Given the description of an element on the screen output the (x, y) to click on. 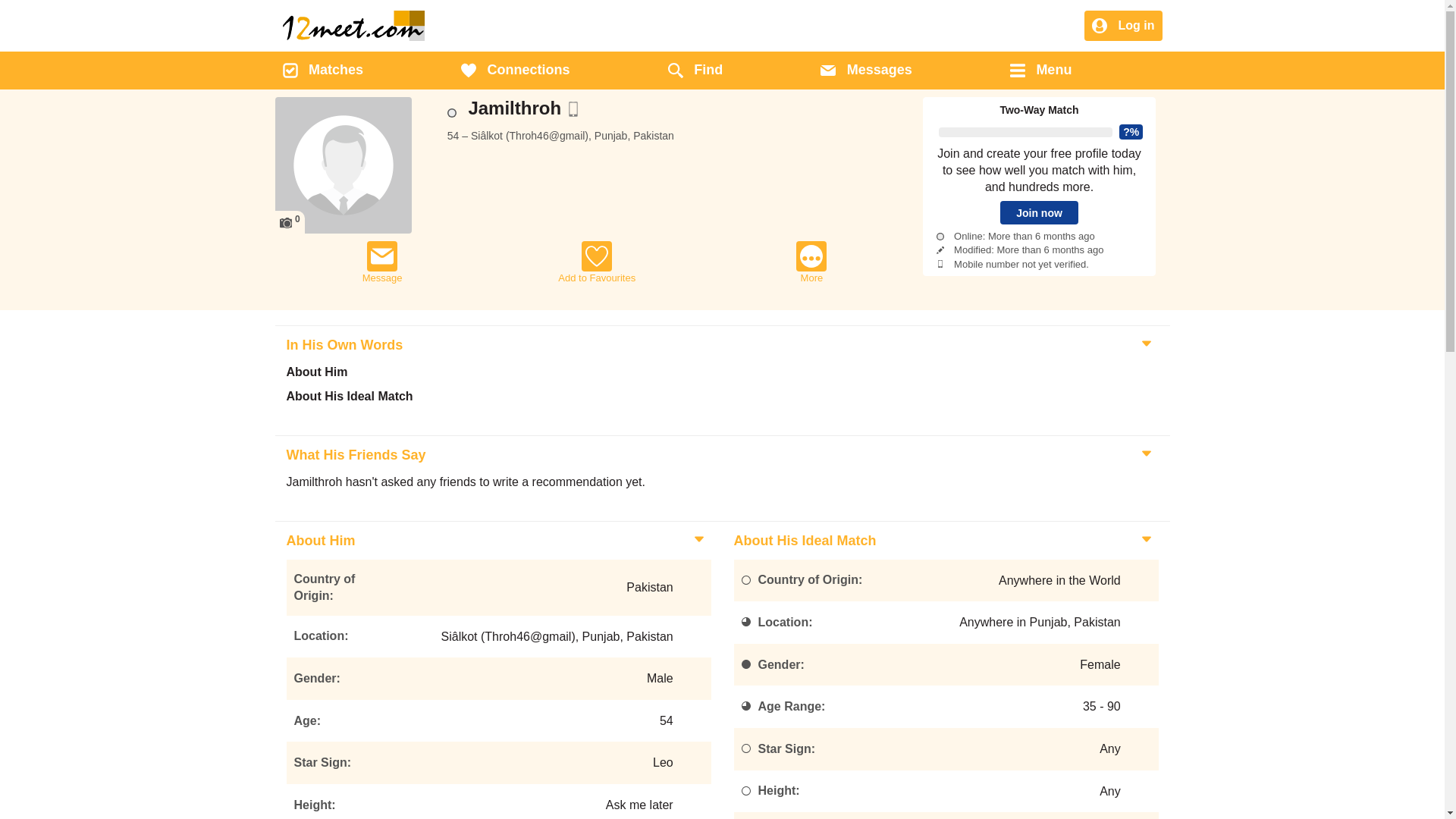
More Element type: text (811, 262)
Add to Favourites Element type: text (596, 262)
Find Element type: text (695, 70)
Jamilthroh hasn't yet uploaded any photos Element type: hover (342, 165)
What His Friends Say Element type: text (353, 454)
Log in Element type: text (1123, 27)
About Him Element type: text (318, 540)
Connections Element type: text (515, 70)
12meet Element type: text (352, 25)
Message Element type: text (382, 262)
In His Own Words Element type: text (342, 345)
About His Ideal Match Element type: text (802, 540)
Join now Element type: text (1039, 212)
Messages Element type: text (866, 70)
Menu Element type: text (1040, 70)
Matches Element type: text (322, 70)
